Given the description of an element on the screen output the (x, y) to click on. 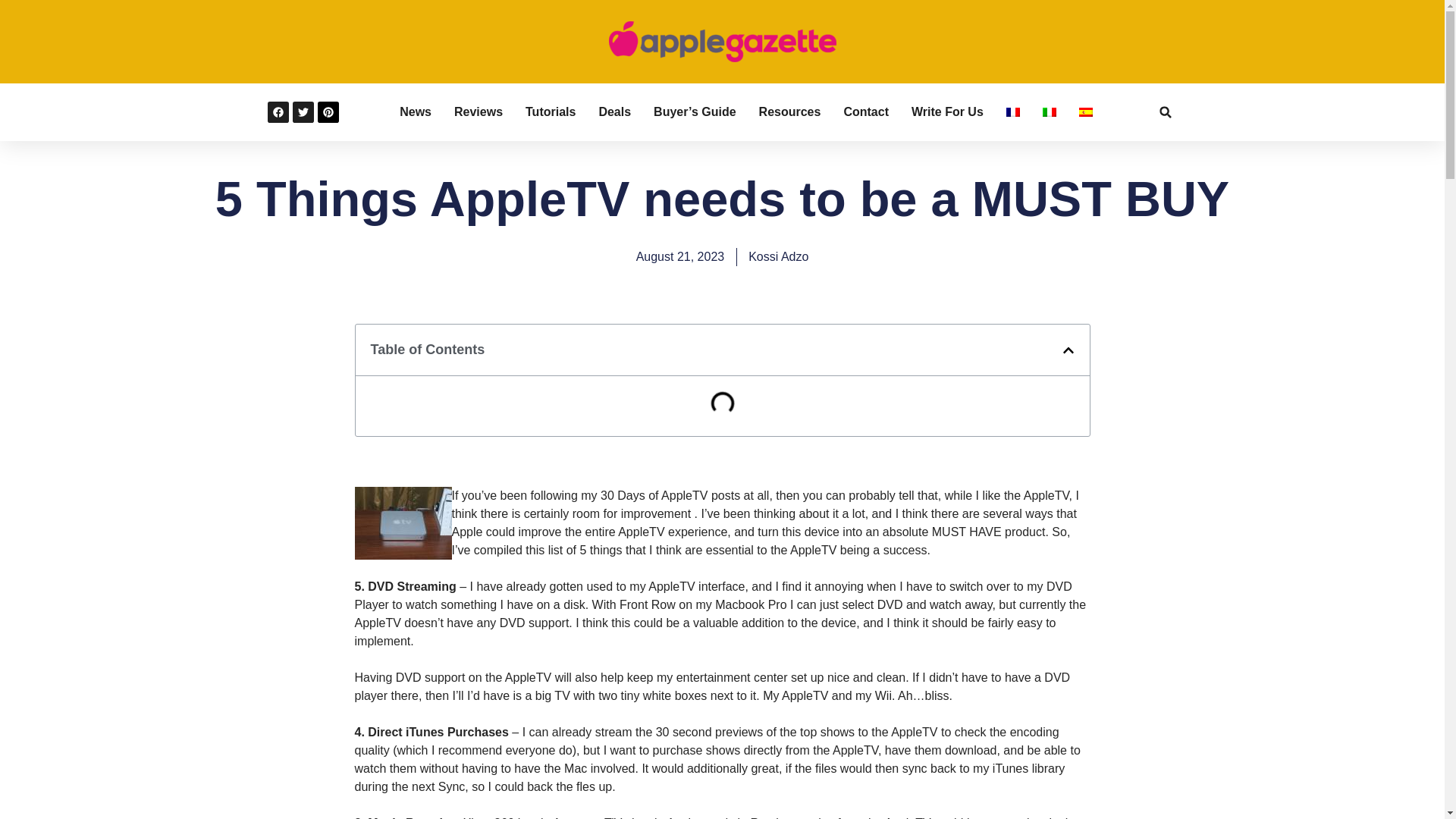
Write For Us (947, 112)
Tutorials (550, 112)
News (414, 112)
Resources (789, 112)
Reviews (478, 112)
Deals (614, 112)
Contact (865, 112)
